Given the description of an element on the screen output the (x, y) to click on. 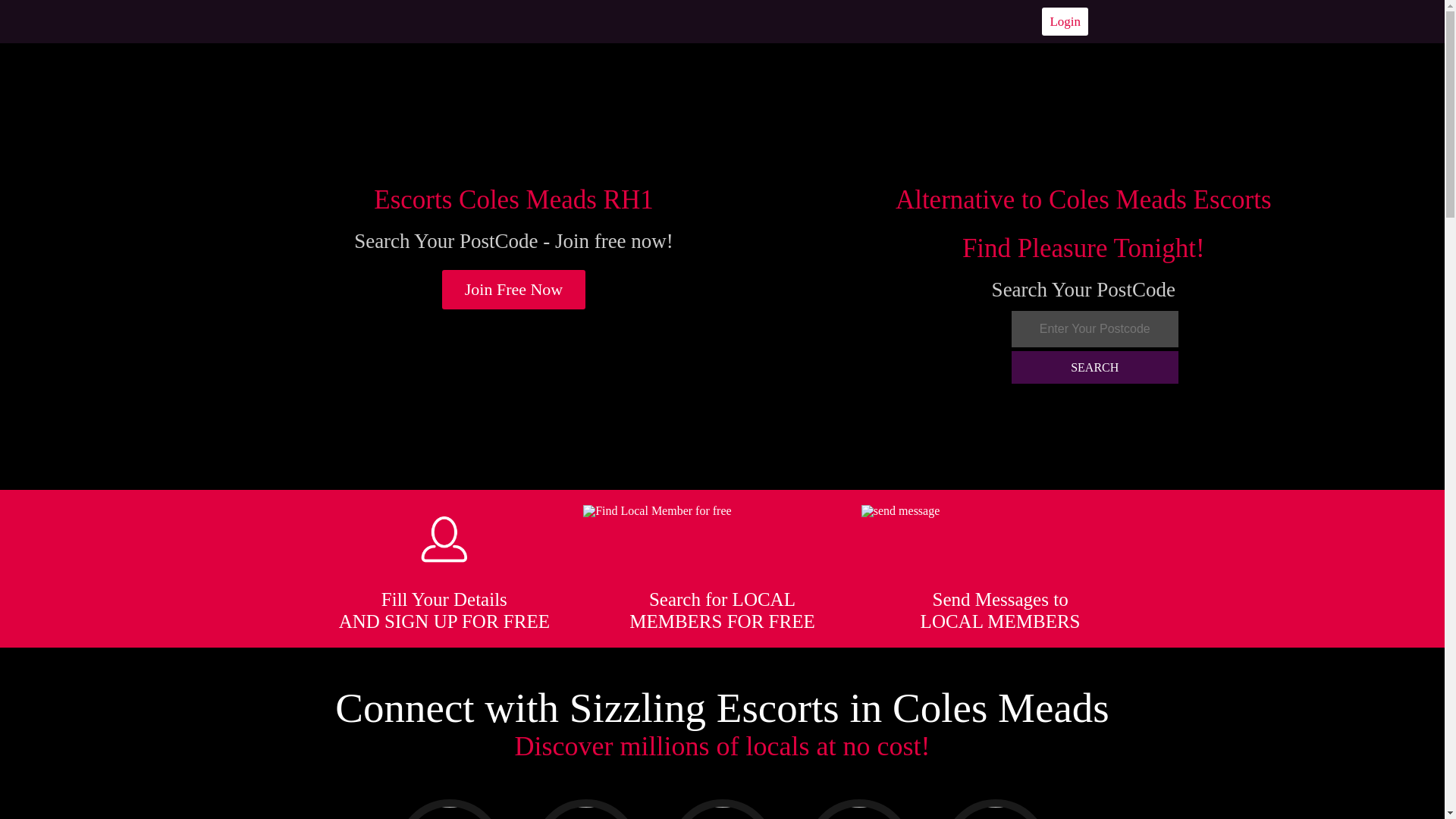
Login (1064, 21)
SEARCH (1094, 367)
Login (1064, 21)
Join Free Now (514, 289)
Join (514, 289)
